Given the description of an element on the screen output the (x, y) to click on. 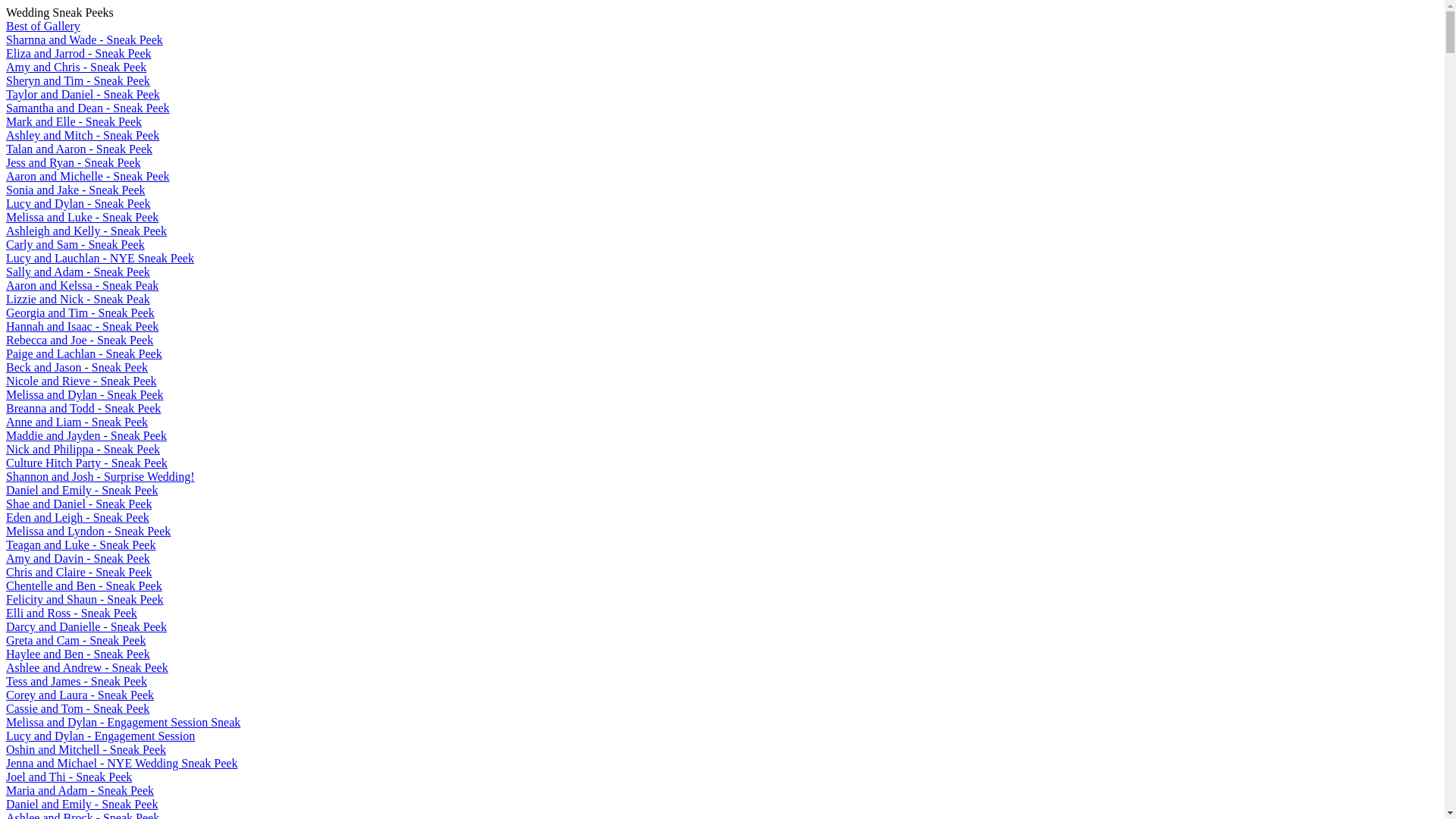
Ashley and Mitch - Sneak Peek Element type: text (82, 134)
Nick and Philippa - Sneak Peek Element type: text (83, 448)
Lizzie and Nick - Sneak Peak Element type: text (78, 298)
Cassie and Tom - Sneak Peek Element type: text (77, 708)
Breanna and Todd - Sneak Peek Element type: text (83, 407)
Maddie and Jayden - Sneak Peek Element type: text (86, 435)
Lucy and Dylan - Sneak Peek Element type: text (78, 203)
Melissa and Dylan - Sneak Peek Element type: text (84, 394)
Georgia and Tim - Sneak Peek Element type: text (80, 312)
Mark and Elle - Sneak Peek Element type: text (73, 121)
Felicity and Shaun - Sneak Peek Element type: text (84, 599)
Nicole and Rieve - Sneak Peek Element type: text (81, 380)
Greta and Cam - Sneak Peek Element type: text (75, 639)
Anne and Liam - Sneak Peek Element type: text (76, 421)
Ashlee and Andrew - Sneak Peek Element type: text (87, 667)
Jess and Ryan - Sneak Peek Element type: text (73, 162)
Melissa and Lyndon - Sneak Peek Element type: text (88, 530)
Hannah and Isaac - Sneak Peek Element type: text (82, 326)
Lucy and Dylan - Engagement Session Element type: text (100, 735)
Daniel and Emily - Sneak Peek Element type: text (81, 803)
Beck and Jason - Sneak Peek Element type: text (76, 366)
Samantha and Dean - Sneak Peek Element type: text (87, 107)
Carly and Sam - Sneak Peek Element type: text (75, 244)
Best of Gallery Element type: text (43, 25)
Amy and Davin - Sneak Peek Element type: text (78, 558)
Sheryn and Tim - Sneak Peek Element type: text (78, 80)
Teagan and Luke - Sneak Peek Element type: text (80, 544)
Sharnna and Wade - Sneak Peek Element type: text (84, 39)
Chentelle and Ben - Sneak Peek Element type: text (84, 585)
Tess and James - Sneak Peek Element type: text (76, 680)
Daniel and Emily - Sneak Peek Element type: text (81, 489)
Aaron and Michelle - Sneak Peek Element type: text (87, 175)
Darcy and Danielle - Sneak Peek Element type: text (86, 626)
Haylee and Ben - Sneak Peek Element type: text (78, 653)
Amy and Chris - Sneak Peek Element type: text (76, 66)
Shannon and Josh - Surprise Wedding! Element type: text (100, 476)
Ashleigh and Kelly - Sneak Peek Element type: text (86, 230)
Talan and Aaron - Sneak Peek Element type: text (79, 148)
Taylor and Daniel - Sneak Peek Element type: text (83, 93)
Jenna and Michael - NYE Wedding Sneak Peek Element type: text (121, 762)
Paige and Lachlan - Sneak Peek Element type: text (84, 353)
Corey and Laura - Sneak Peek Element type: text (79, 694)
Melissa and Dylan - Engagement Session Sneak Element type: text (123, 721)
Shae and Daniel - Sneak Peek Element type: text (78, 503)
Eliza and Jarrod - Sneak Peek Element type: text (78, 53)
Lucy and Lauchlan - NYE Sneak Peek Element type: text (100, 257)
Sonia and Jake - Sneak Peek Element type: text (75, 189)
Chris and Claire - Sneak Peek Element type: text (78, 571)
Maria and Adam - Sneak Peek Element type: text (79, 790)
Elli and Ross - Sneak Peek Element type: text (71, 612)
Joel and Thi - Sneak Peek Element type: text (68, 776)
Eden and Leigh - Sneak Peek Element type: text (77, 517)
Rebecca and Joe - Sneak Peek Element type: text (79, 339)
Culture Hitch Party - Sneak Peek Element type: text (86, 462)
Oshin and Mitchell - Sneak Peek Element type: text (86, 749)
Sally and Adam - Sneak Peek Element type: text (78, 271)
Melissa and Luke - Sneak Peek Element type: text (82, 216)
Aaron and Kelssa - Sneak Peak Element type: text (82, 285)
